Given the description of an element on the screen output the (x, y) to click on. 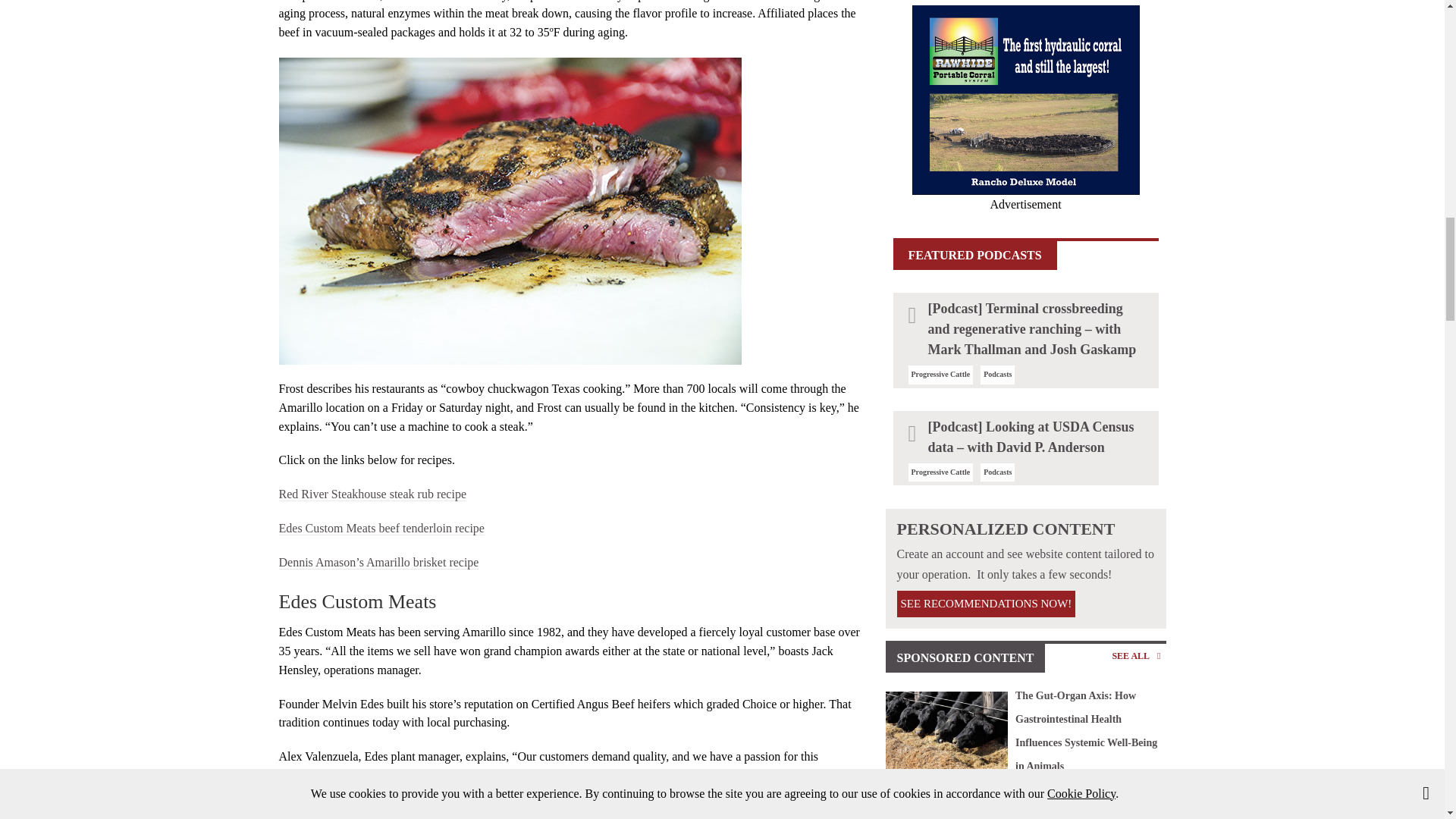
volac-beef-main.jpg (947, 732)
